Given the description of an element on the screen output the (x, y) to click on. 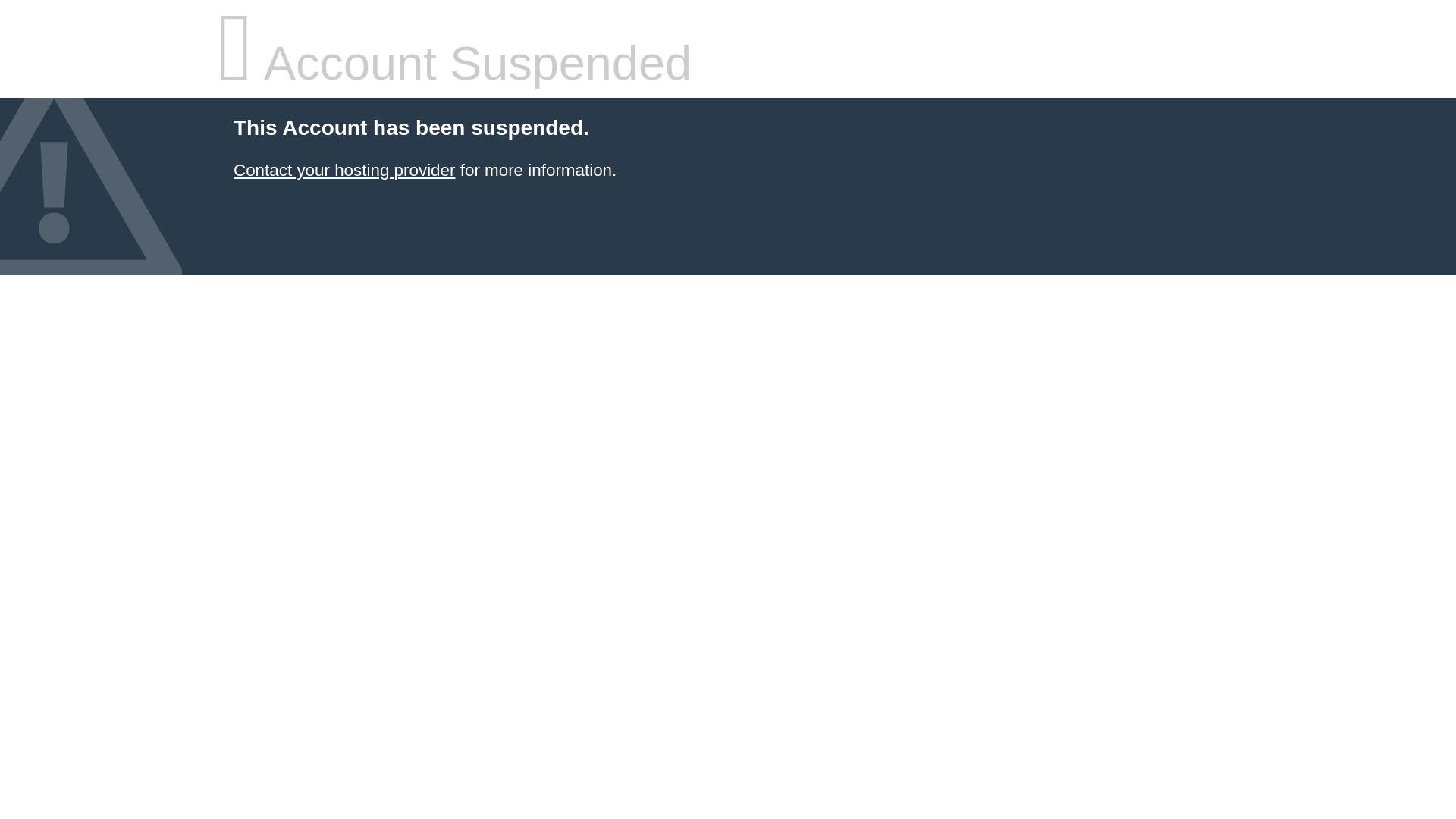
Contact your hosting provider (343, 169)
